Given the description of an element on the screen output the (x, y) to click on. 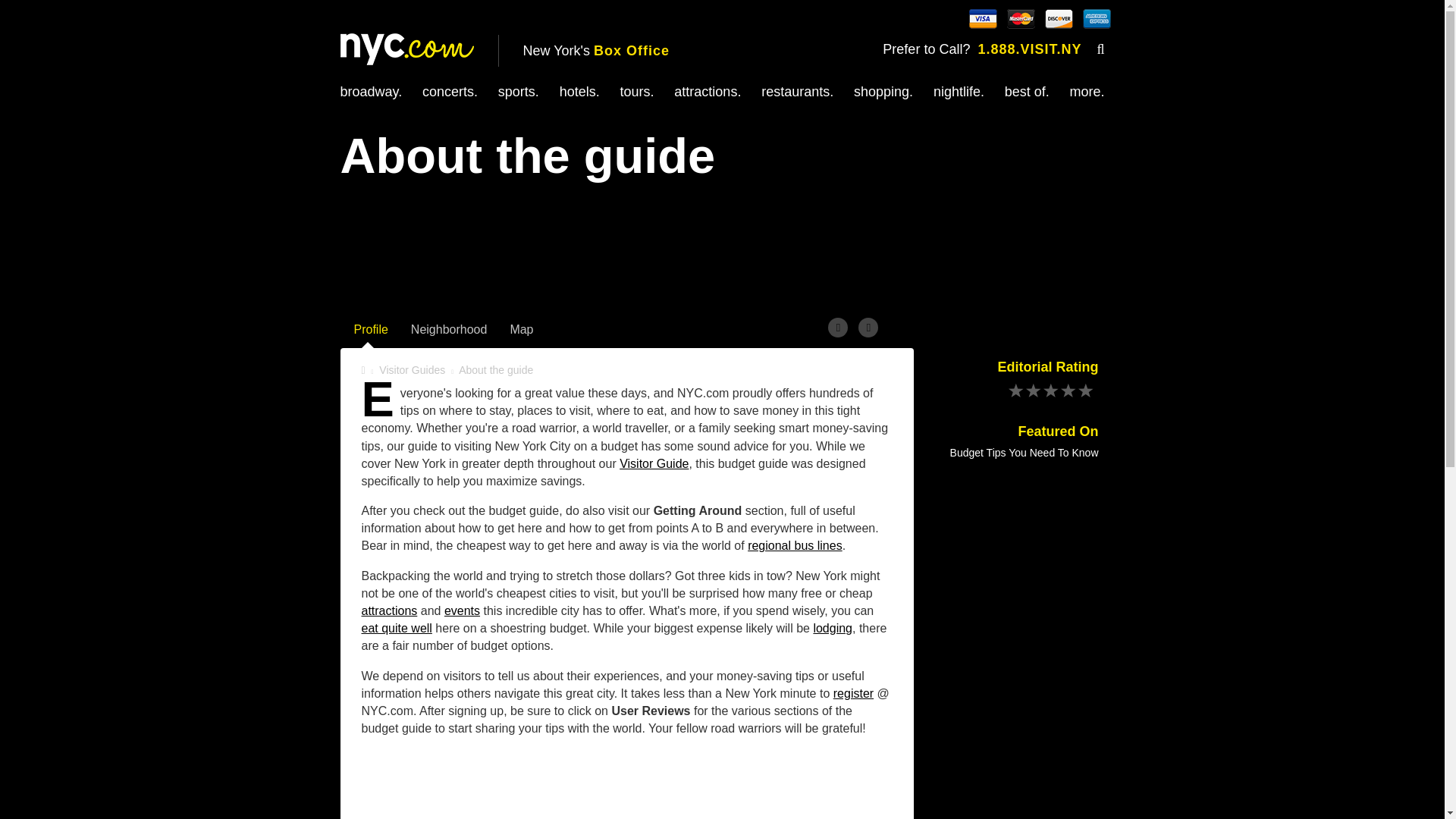
best of. (1026, 91)
shopping. (882, 91)
nightlife. (958, 91)
hotels. (579, 91)
sports. (517, 91)
more. (1087, 91)
restaurants. (796, 91)
concerts. (449, 91)
tours. (636, 91)
attractions. (707, 91)
